Given the description of an element on the screen output the (x, y) to click on. 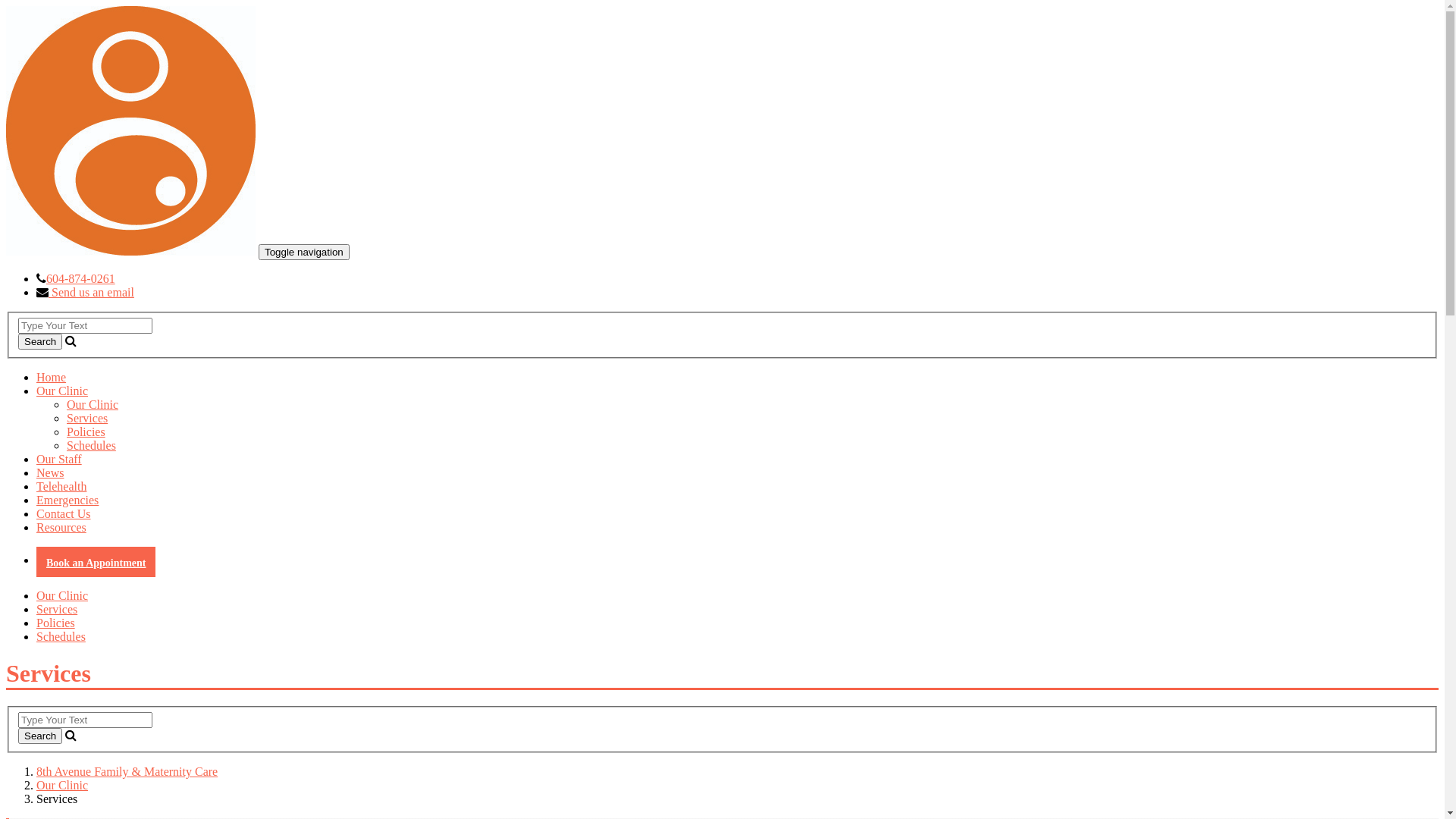
Send us an email Element type: text (91, 291)
News Element type: text (49, 472)
Our Clinic Element type: text (61, 595)
Policies Element type: text (55, 622)
Schedules Element type: text (60, 636)
Book an Appointment Element type: text (95, 561)
Contact Us Element type: text (63, 513)
Schedules Element type: text (91, 445)
604-874-0261 Element type: text (80, 278)
Policies Element type: text (85, 431)
Search Element type: text (40, 341)
Toggle navigation Element type: text (303, 252)
8th Avenue Family & Maternity Care Element type: text (126, 771)
Our Clinic Element type: text (61, 784)
Search Element type: text (40, 735)
Resources Element type: text (61, 526)
Our Clinic Element type: text (92, 404)
Our Clinic Element type: text (61, 390)
Services Element type: text (56, 608)
Home Element type: text (50, 376)
Our Staff Element type: text (58, 458)
Services Element type: text (86, 417)
Emergencies Element type: text (67, 499)
Telehealth Element type: text (61, 486)
